Given the description of an element on the screen output the (x, y) to click on. 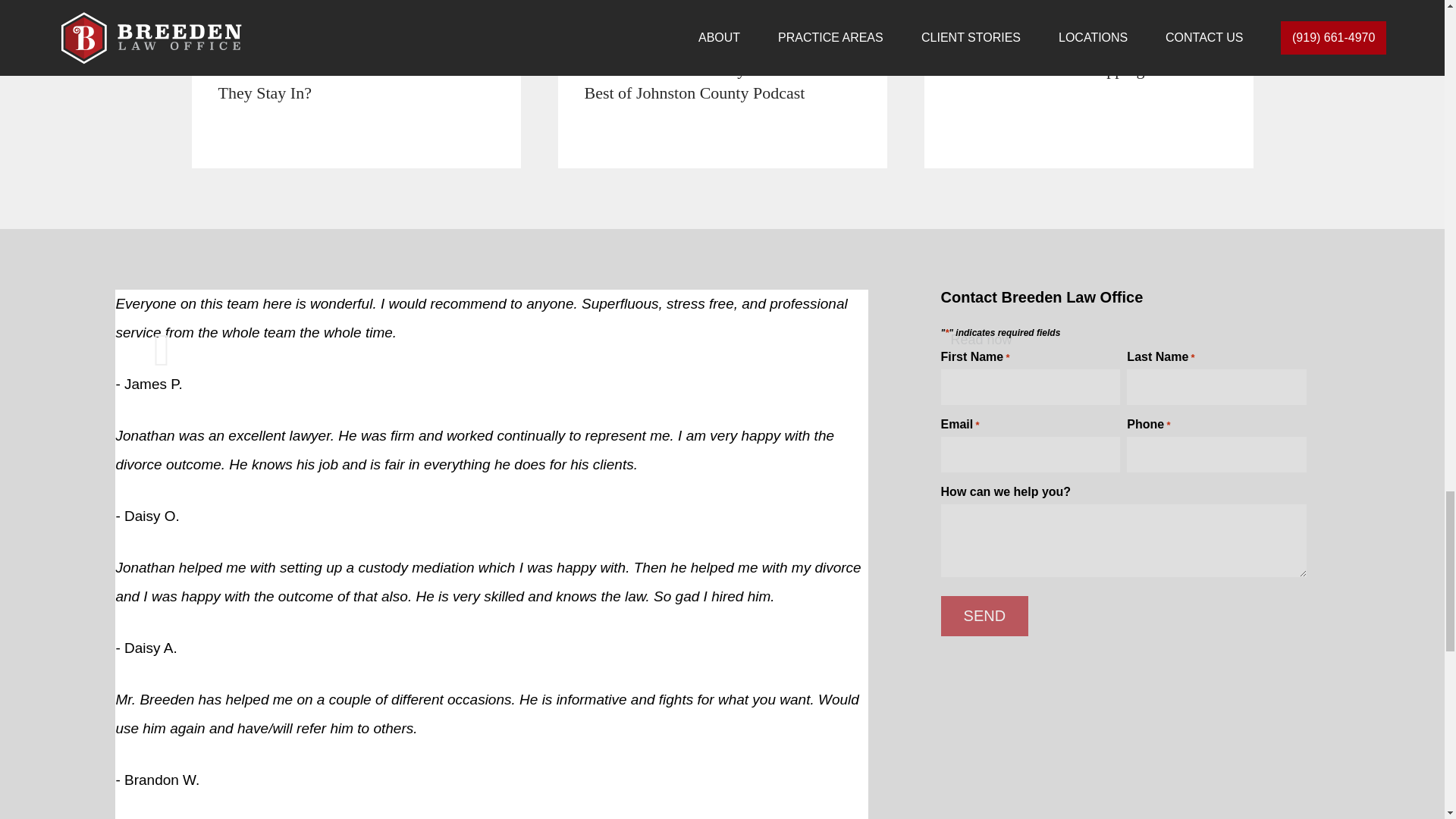
Send (984, 616)
Read More about What Is Parental Kidnapping? (1087, 84)
